Given the description of an element on the screen output the (x, y) to click on. 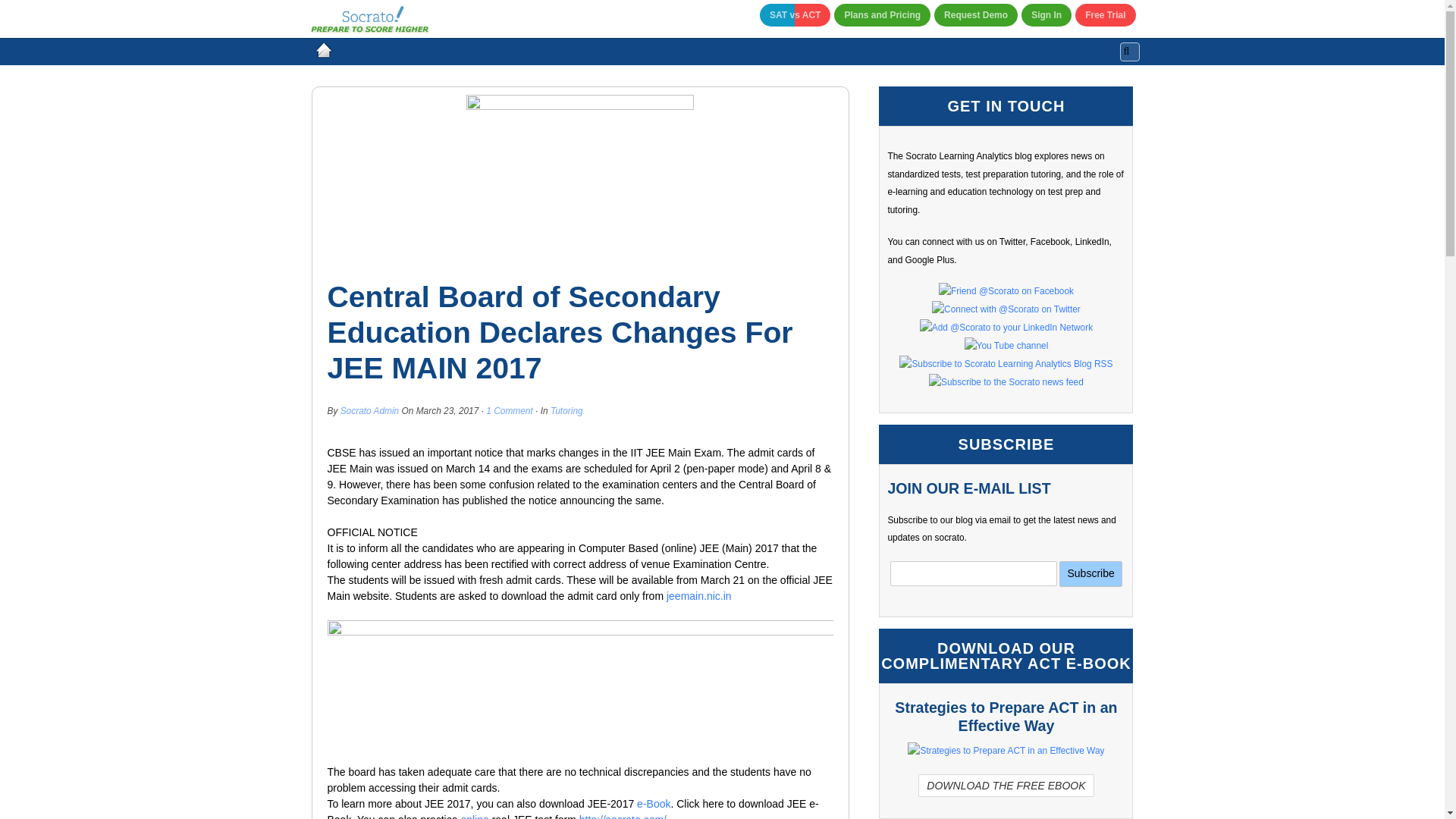
DOWNLOAD THE FREE EBOOK (1005, 785)
Posts by Socrato Admin (369, 410)
1 Comment (509, 410)
Plans and Pricing (882, 15)
Subscribe to Scorato Learning Analytics Blog RSS (1005, 364)
Subscribe (1090, 574)
Socrato Admin (369, 410)
Free Trial (1105, 15)
e-Book (653, 803)
Socrato Learning Analytics Blog (322, 49)
